Given the description of an element on the screen output the (x, y) to click on. 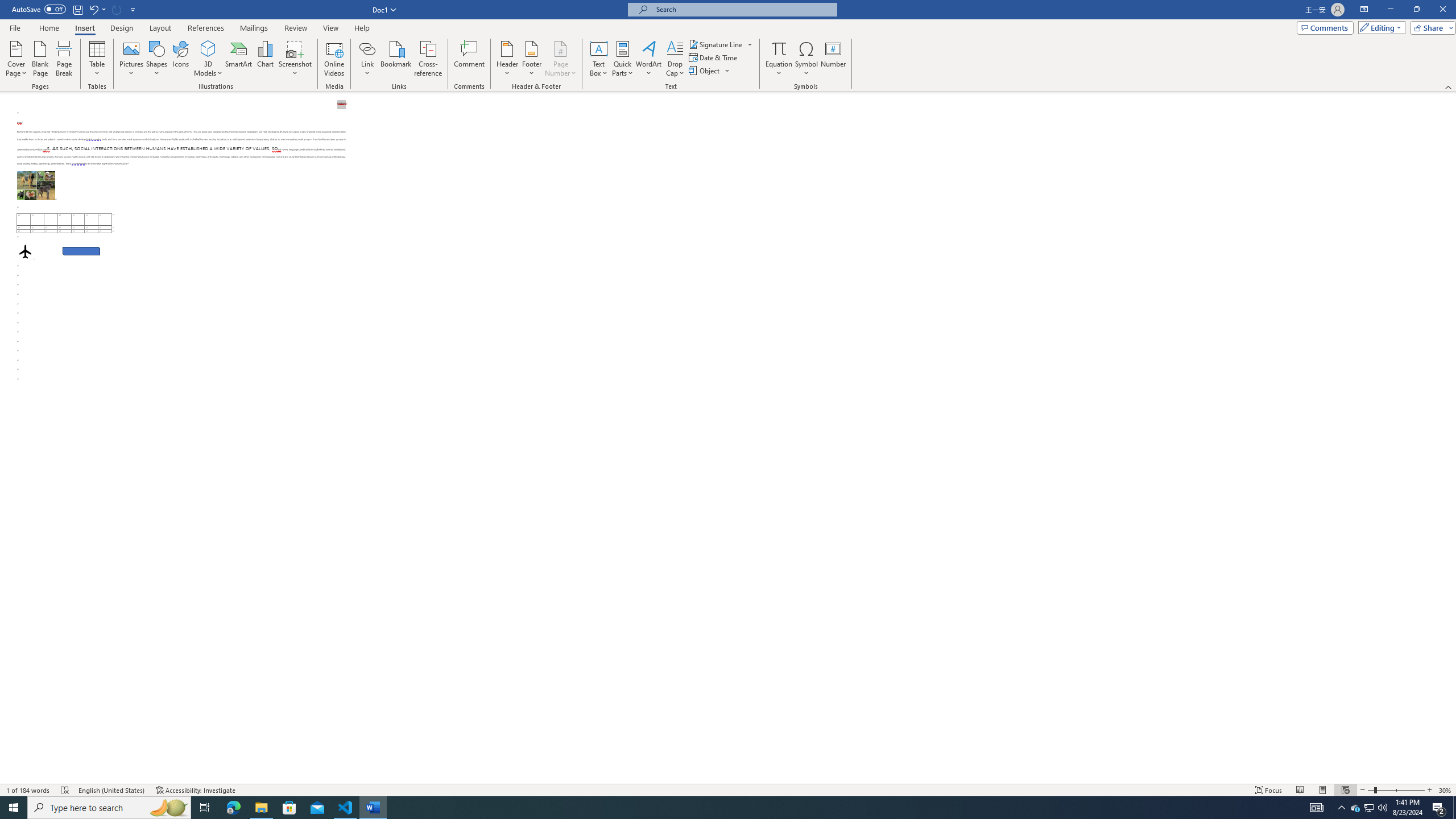
Page Break (63, 58)
Blank Page (40, 58)
Header (507, 58)
Object... (705, 69)
Date & Time... (714, 56)
Mailings (253, 28)
Word Count 1 of 184 words (28, 790)
Print Layout (1322, 790)
Class: NetUIScrollBar (1450, 437)
Ribbon Display Options (1364, 9)
Rectangle: Diagonal Corners Snipped 2 (81, 250)
Number... (833, 58)
Shapes (156, 58)
Save (77, 9)
Collapse the Ribbon (1448, 86)
